Given the description of an element on the screen output the (x, y) to click on. 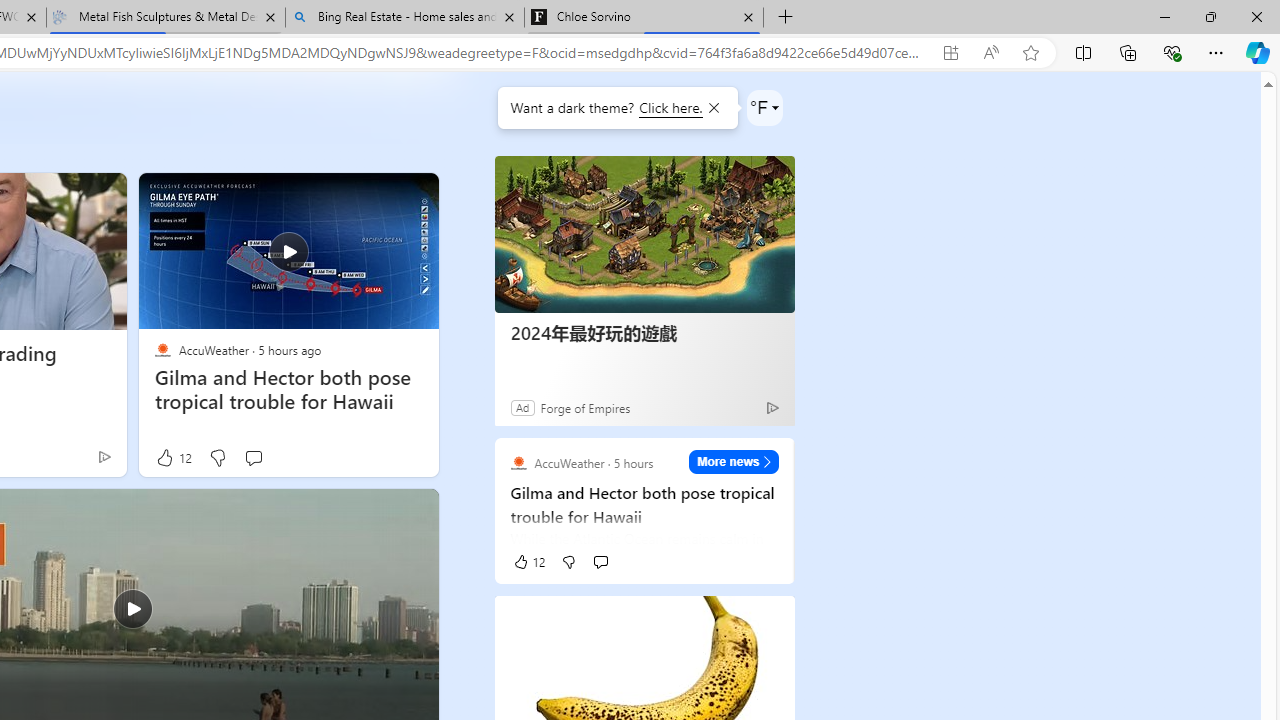
Chloe Sorvino (643, 17)
